Given the description of an element on the screen output the (x, y) to click on. 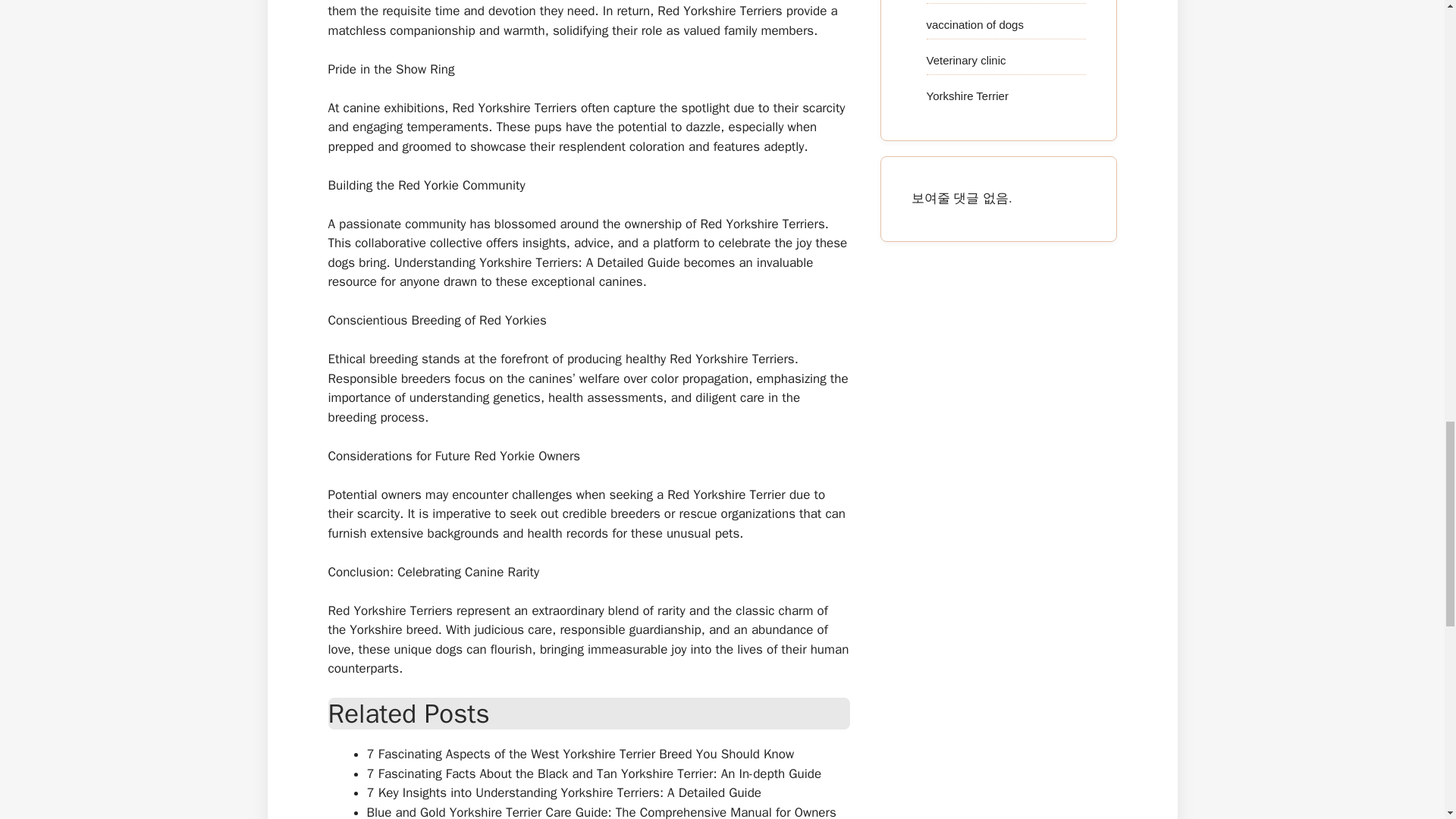
Understanding Yorkshire Terriers: A Detailed Guide (536, 262)
